Given the description of an element on the screen output the (x, y) to click on. 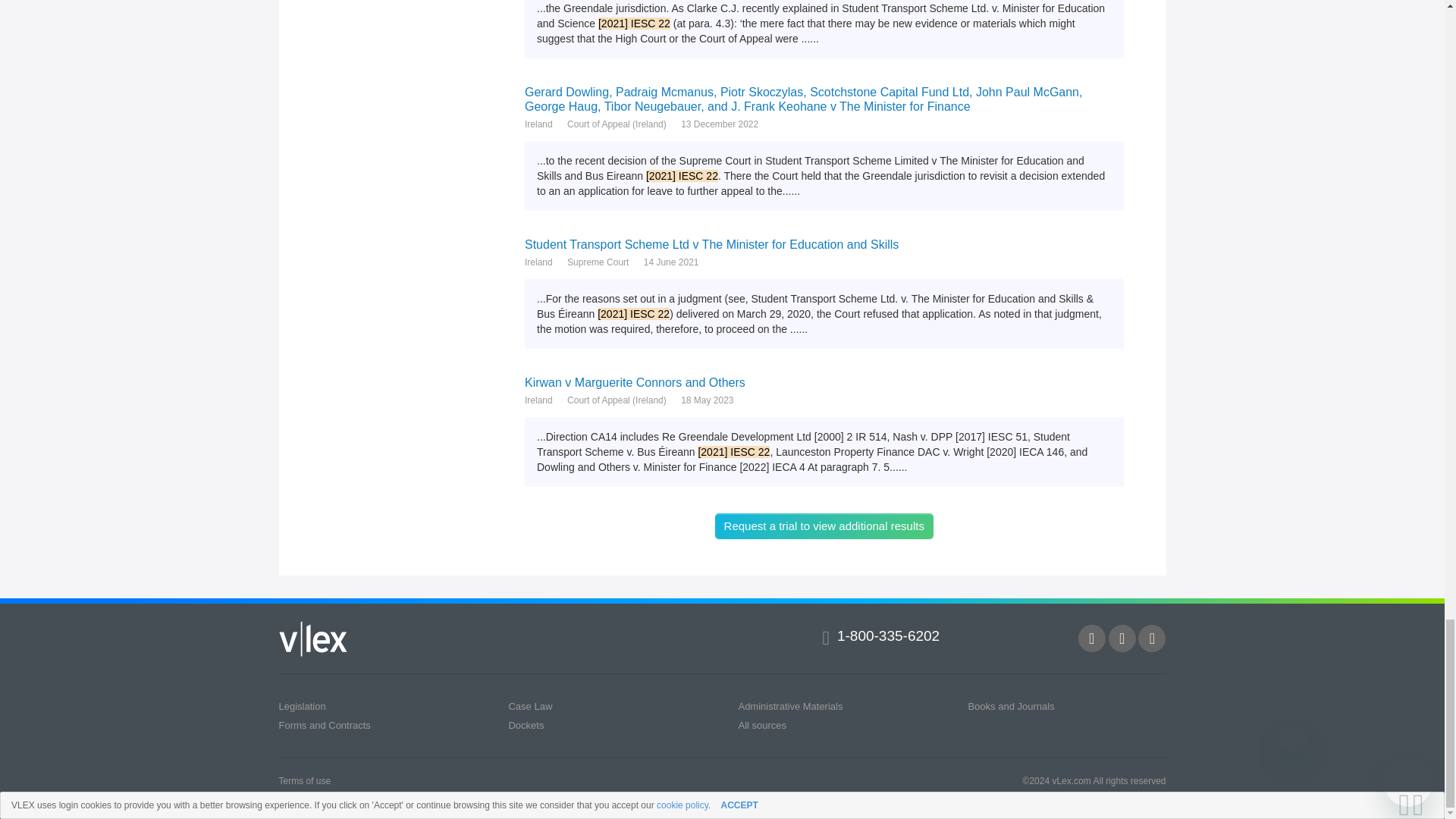
Ireland (538, 400)
Ireland (538, 124)
Ireland (538, 262)
14 June 2021 (670, 262)
Dockets (525, 725)
Legislation (302, 706)
13 December 2022 (719, 124)
Terms of use (305, 780)
Kirwan v Marguerite Connors and Others (824, 382)
Forms and Contracts (325, 725)
Books and Journals (1011, 706)
Case Law (529, 706)
vLex (313, 638)
